Given the description of an element on the screen output the (x, y) to click on. 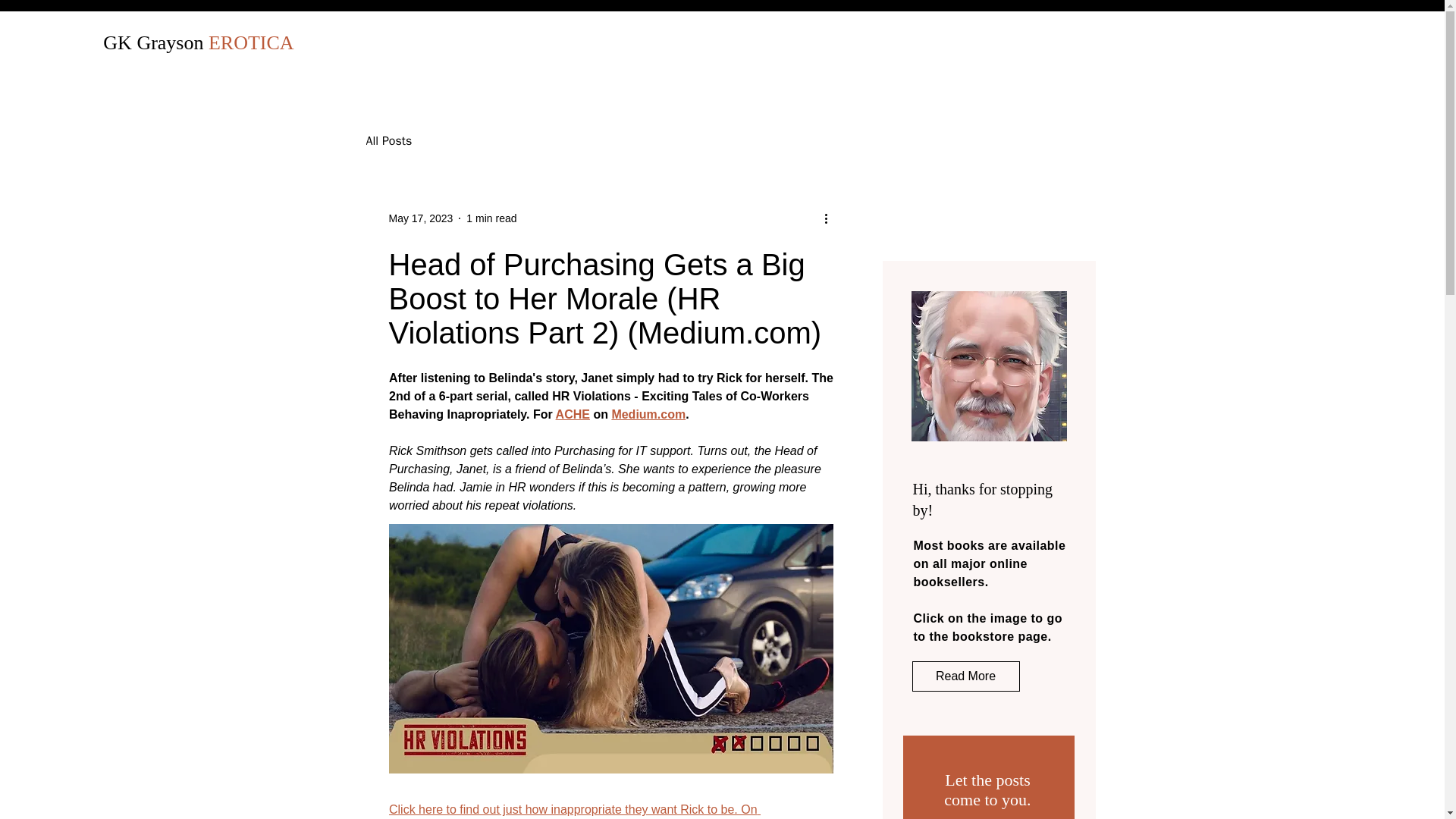
Read More (965, 675)
1 min read (490, 218)
ACHE (571, 413)
GK Grayson EROTICA (198, 42)
Medium.com (648, 413)
May 17, 2023 (420, 218)
All Posts (388, 141)
